Given the description of an element on the screen output the (x, y) to click on. 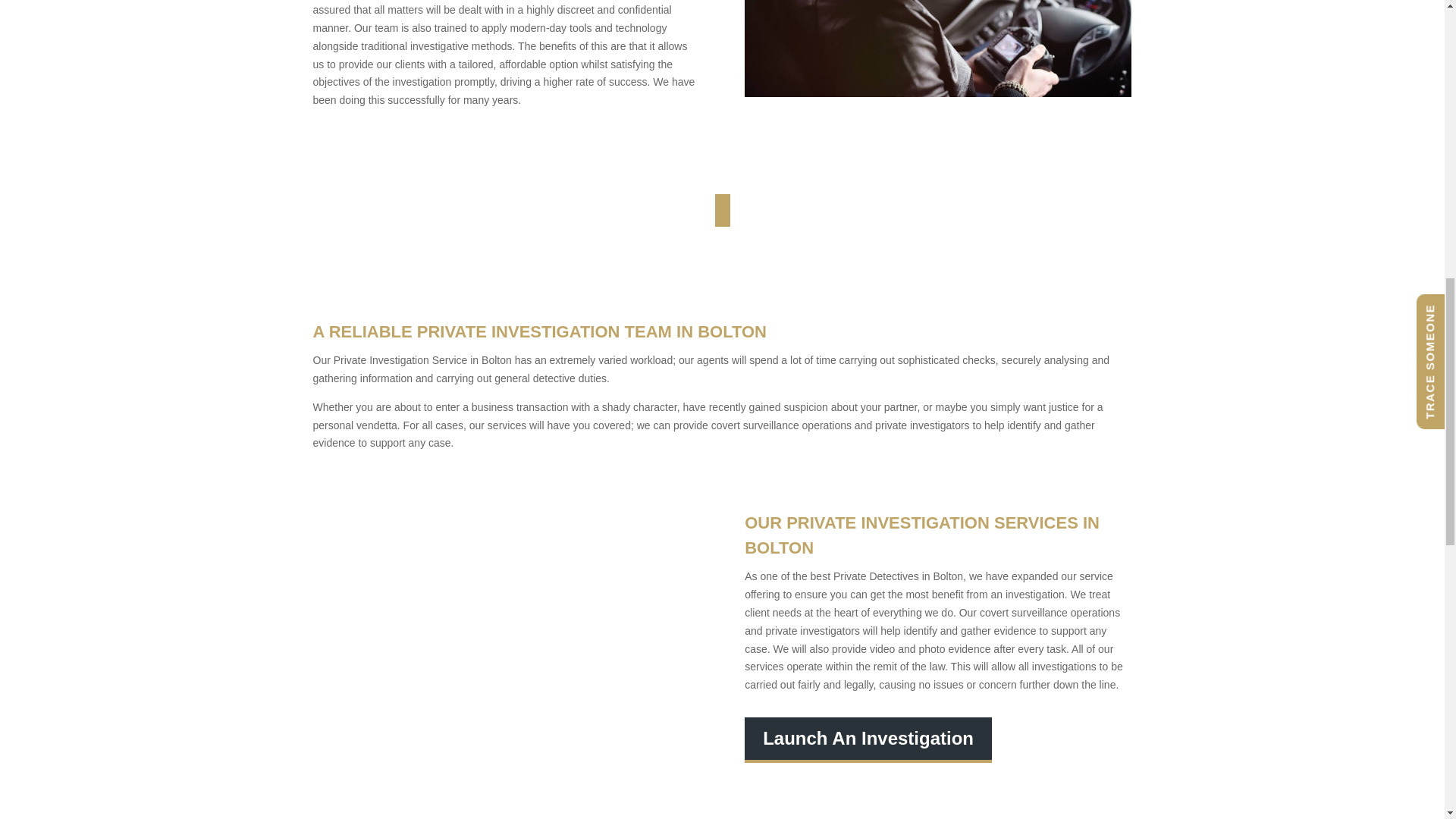
Private Detective Pre Matrimonial Investigation (937, 48)
Launch An Investigation (867, 738)
Surveillance Oldham (505, 639)
